Given the description of an element on the screen output the (x, y) to click on. 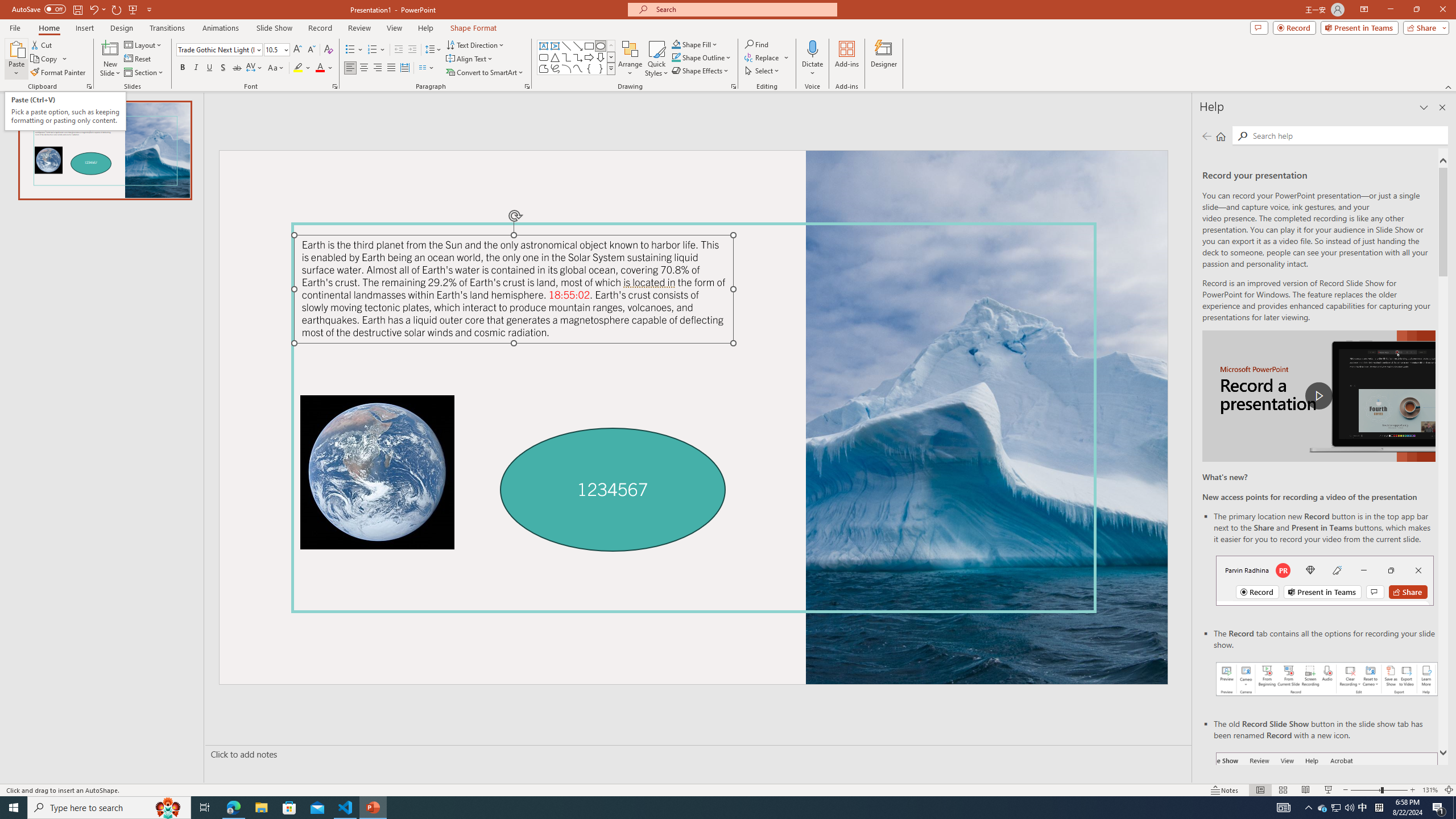
Record your presentations screenshot one (1326, 678)
